Given the description of an element on the screen output the (x, y) to click on. 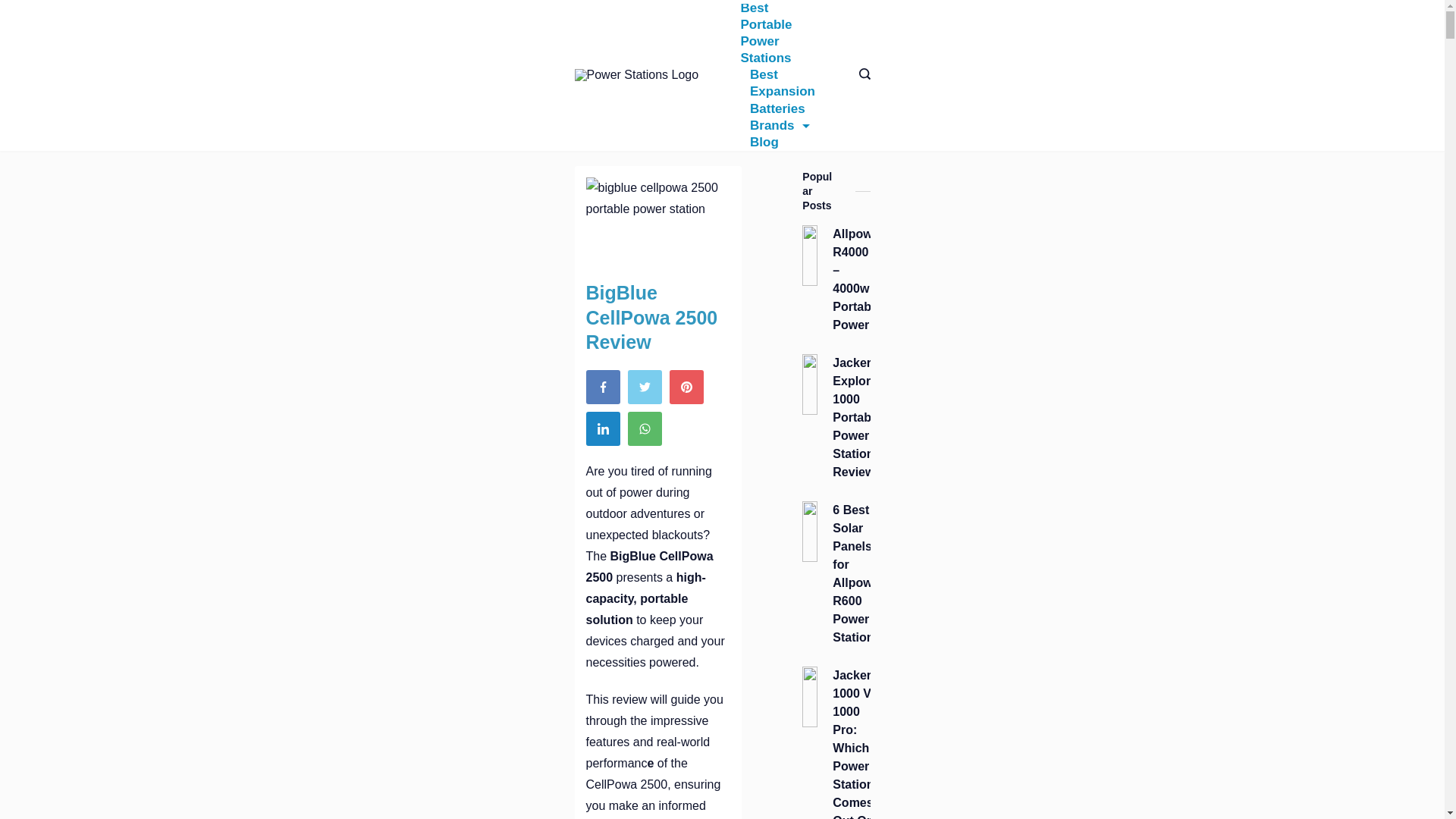
Best Portable Power Stations (782, 33)
Blog (758, 142)
Best Expansion Batteries (782, 91)
Brands (778, 125)
